Given the description of an element on the screen output the (x, y) to click on. 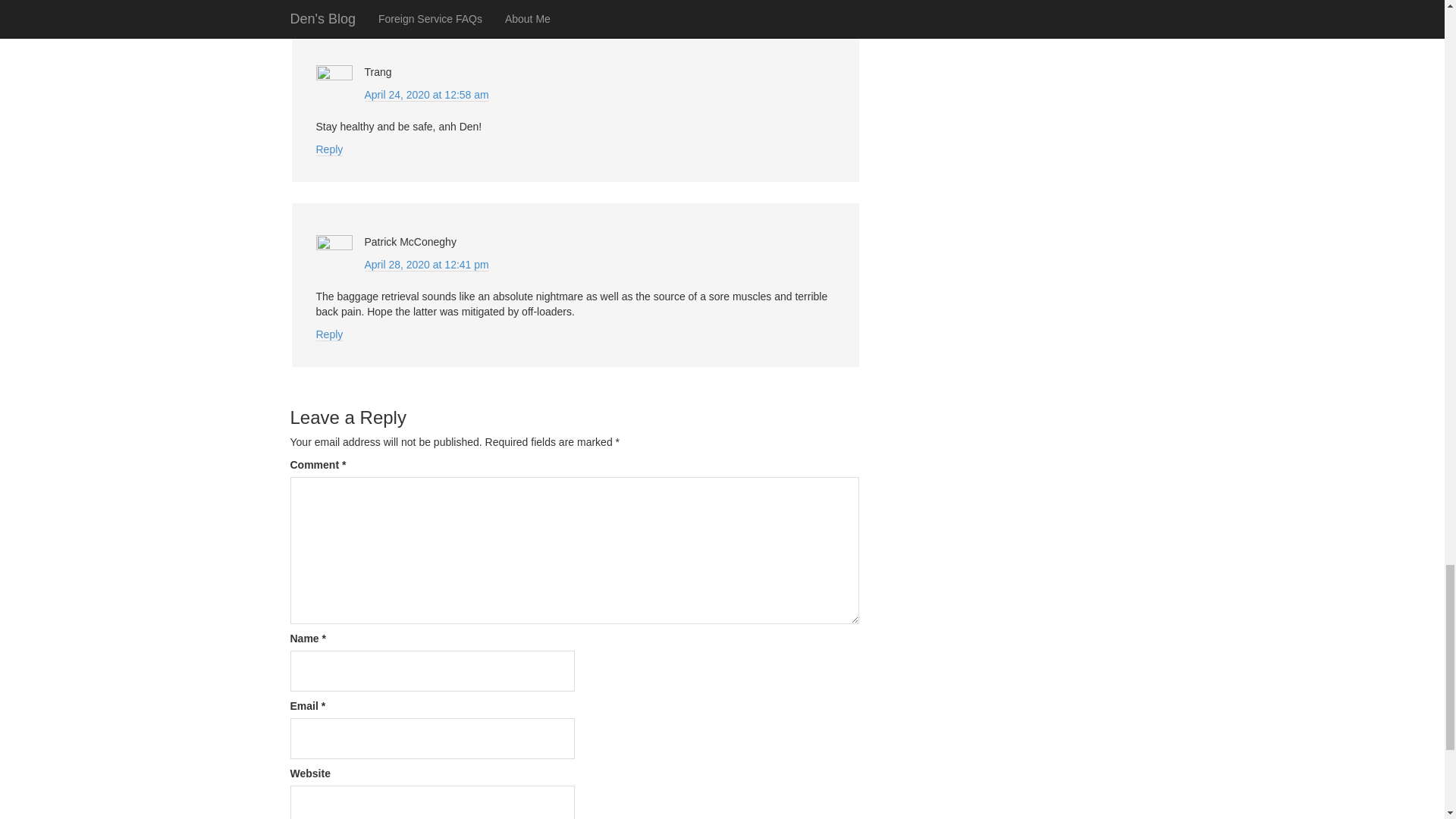
Tuesday, April 28, 2020, 12:41 pm (425, 264)
April 24, 2020 at 12:58 am (425, 94)
Reply (328, 334)
Reply (328, 149)
Friday, April 24, 2020, 12:58 am (425, 94)
April 28, 2020 at 12:41 pm (425, 264)
